Given the description of an element on the screen output the (x, y) to click on. 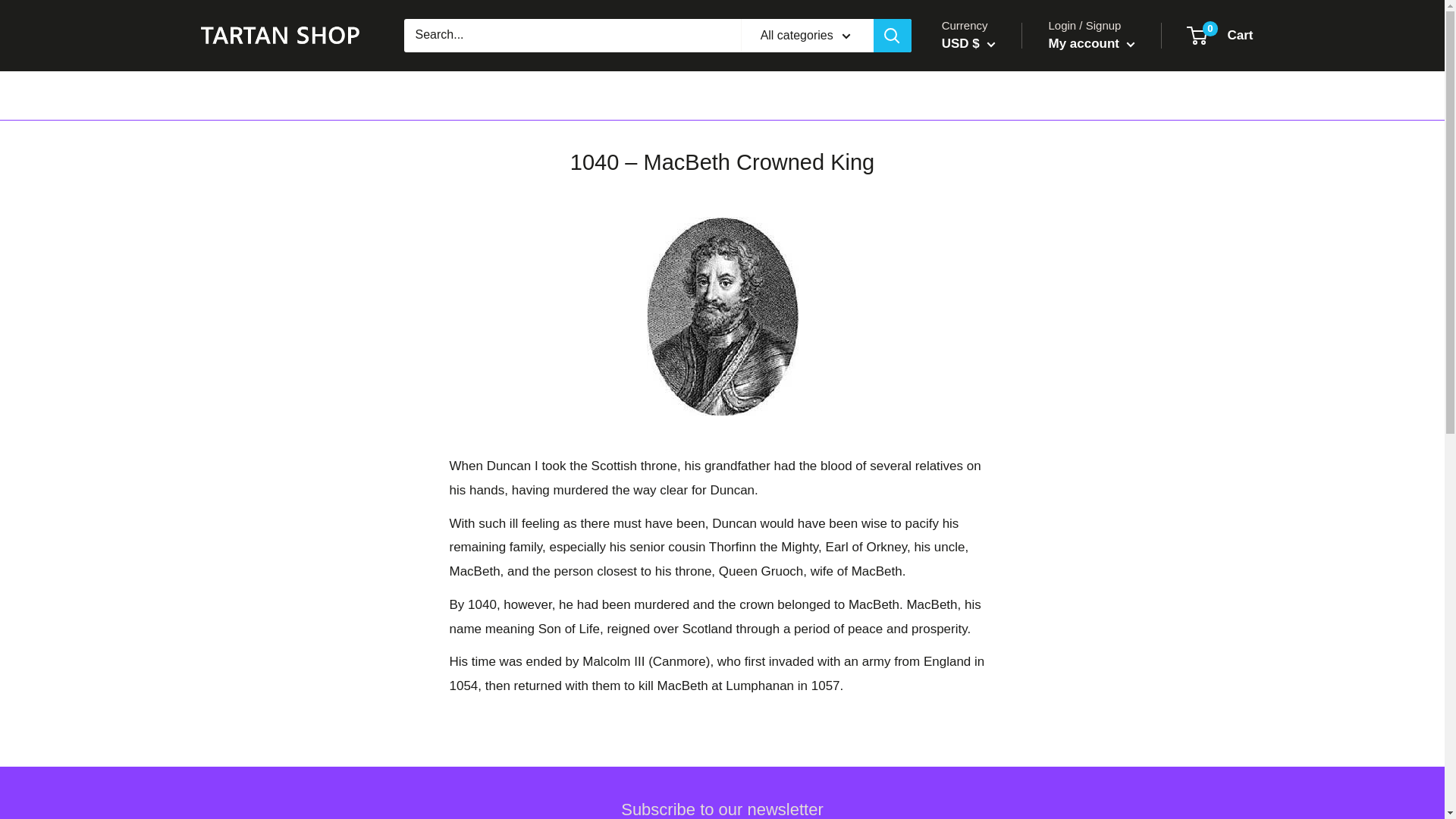
USD (980, 108)
GBP (1220, 35)
My account (980, 84)
